Given the description of an element on the screen output the (x, y) to click on. 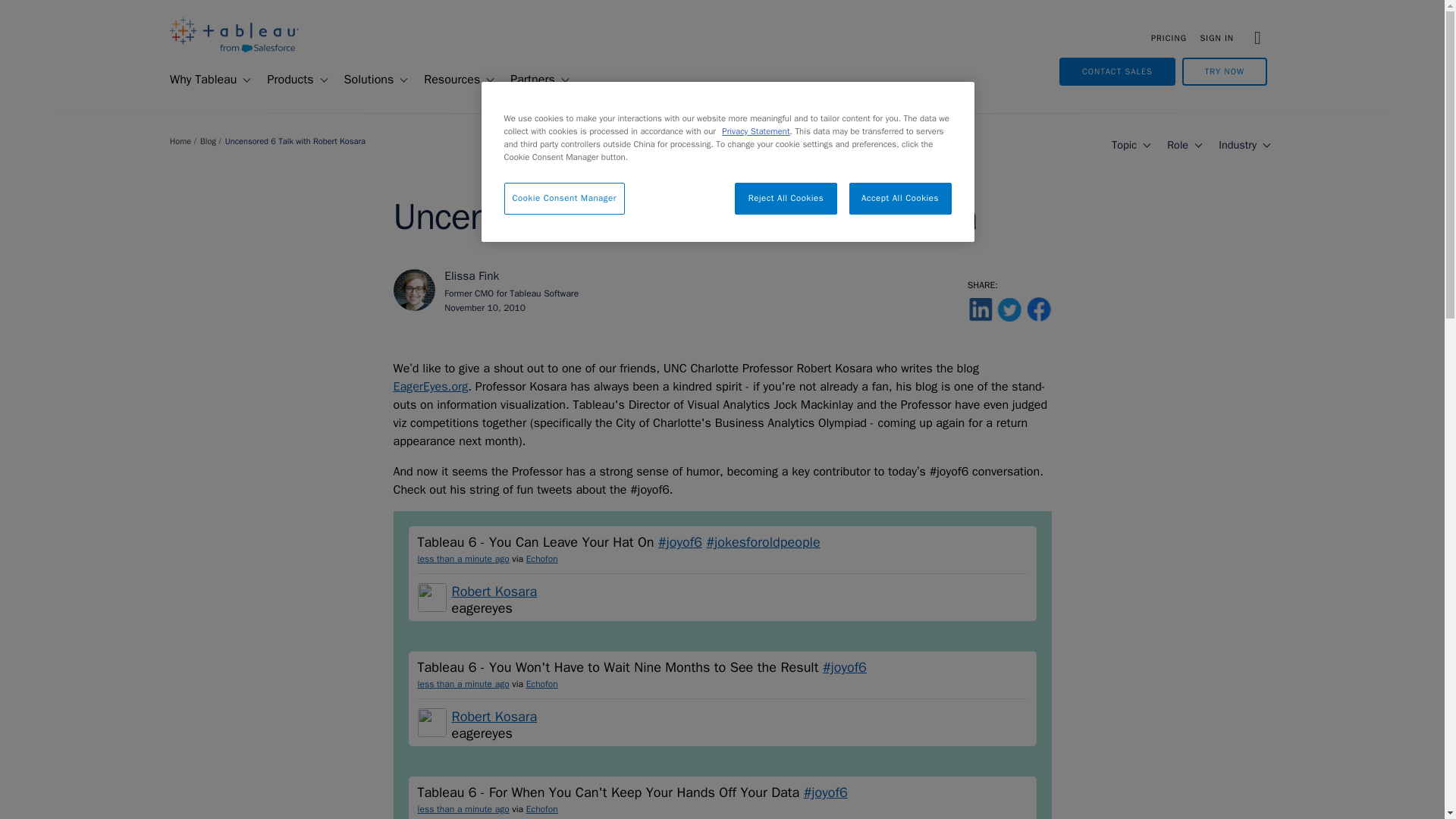
Return to the Tableau Software home page (234, 48)
Solutions (362, 79)
Products (283, 79)
Why Tableau (196, 79)
